Given the description of an element on the screen output the (x, y) to click on. 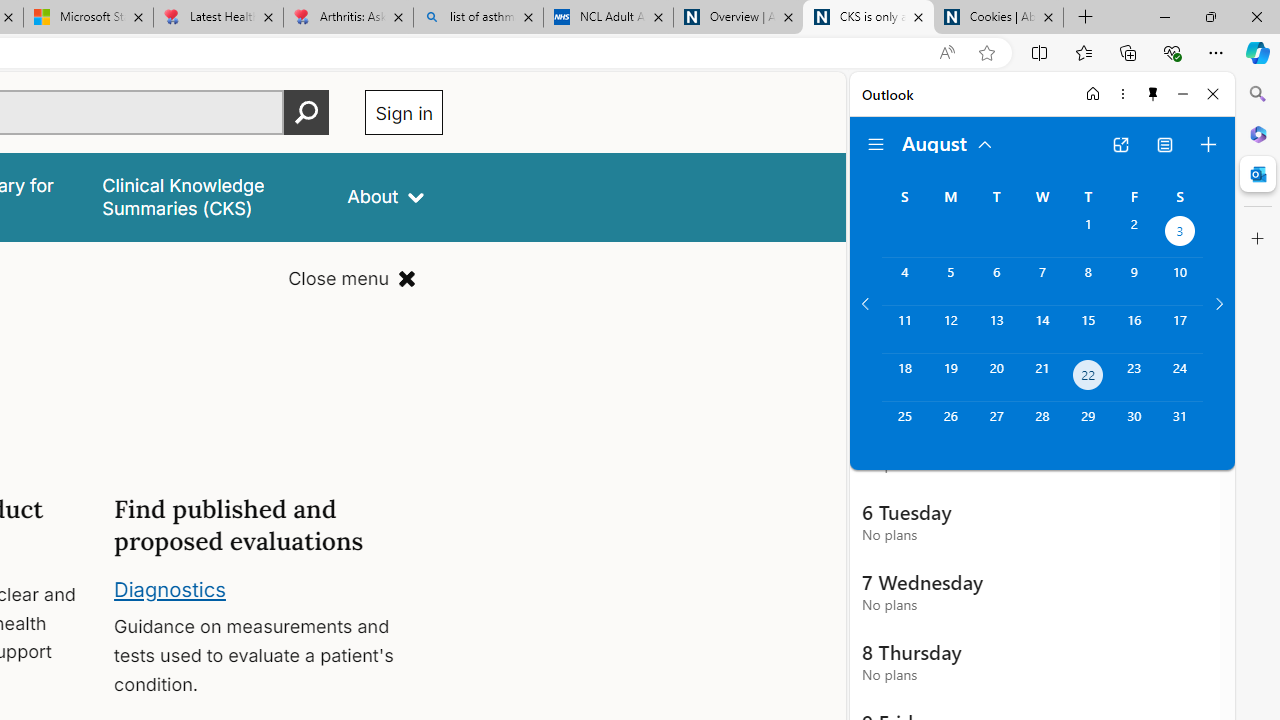
Sunday, August 18, 2024.  (904, 377)
Sign in (404, 112)
Monday, August 26, 2024.  (950, 425)
Saturday, August 24, 2024.  (1180, 377)
Thursday, August 1, 2024.  (1088, 233)
About (386, 196)
Tuesday, August 20, 2024.  (996, 377)
Close menu (352, 278)
Tuesday, August 6, 2024.  (996, 281)
Wednesday, August 28, 2024.  (1042, 425)
Open in new tab (1120, 144)
